Given the description of an element on the screen output the (x, y) to click on. 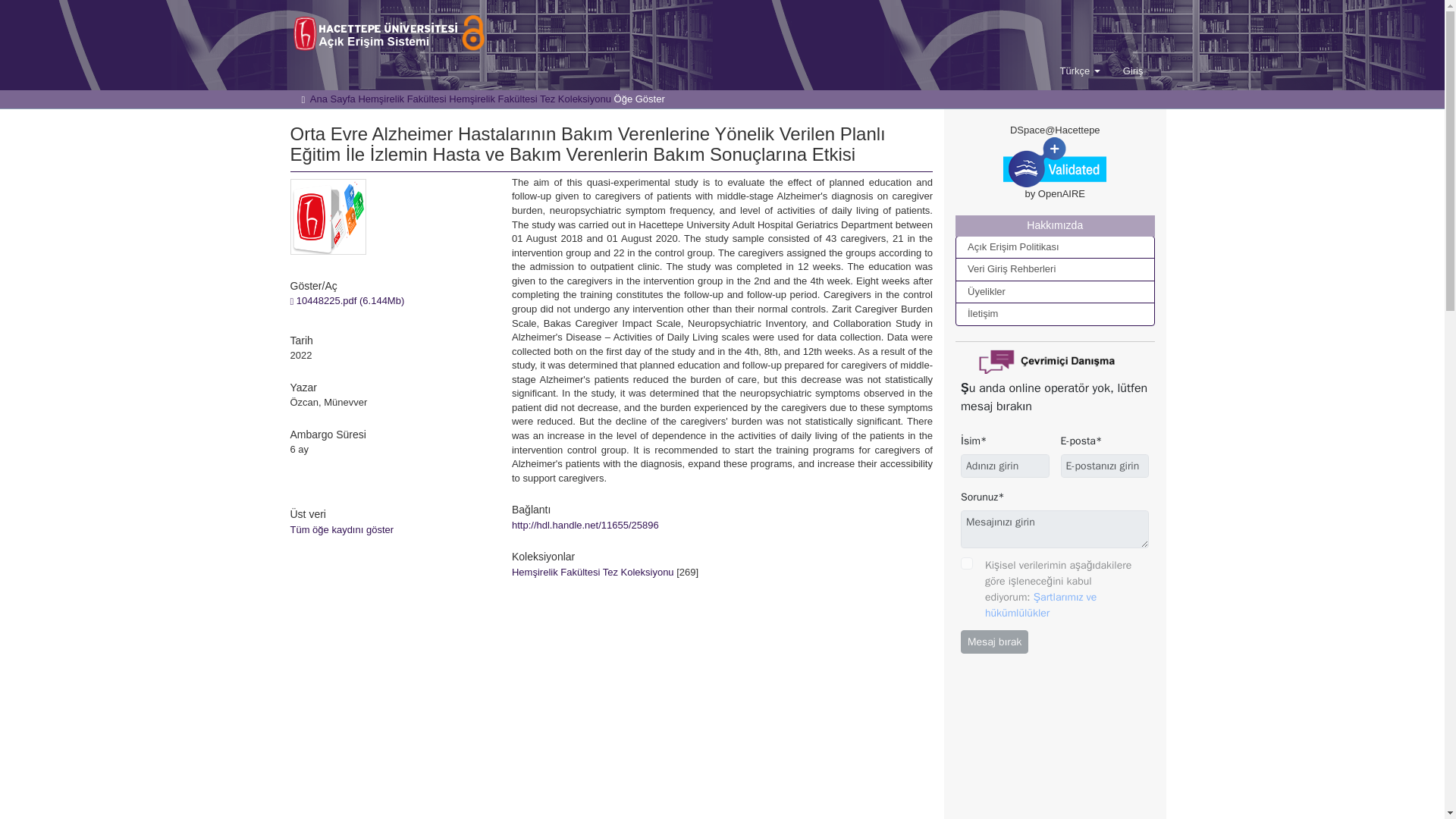
Ana Sayfa (332, 98)
